Given the description of an element on the screen output the (x, y) to click on. 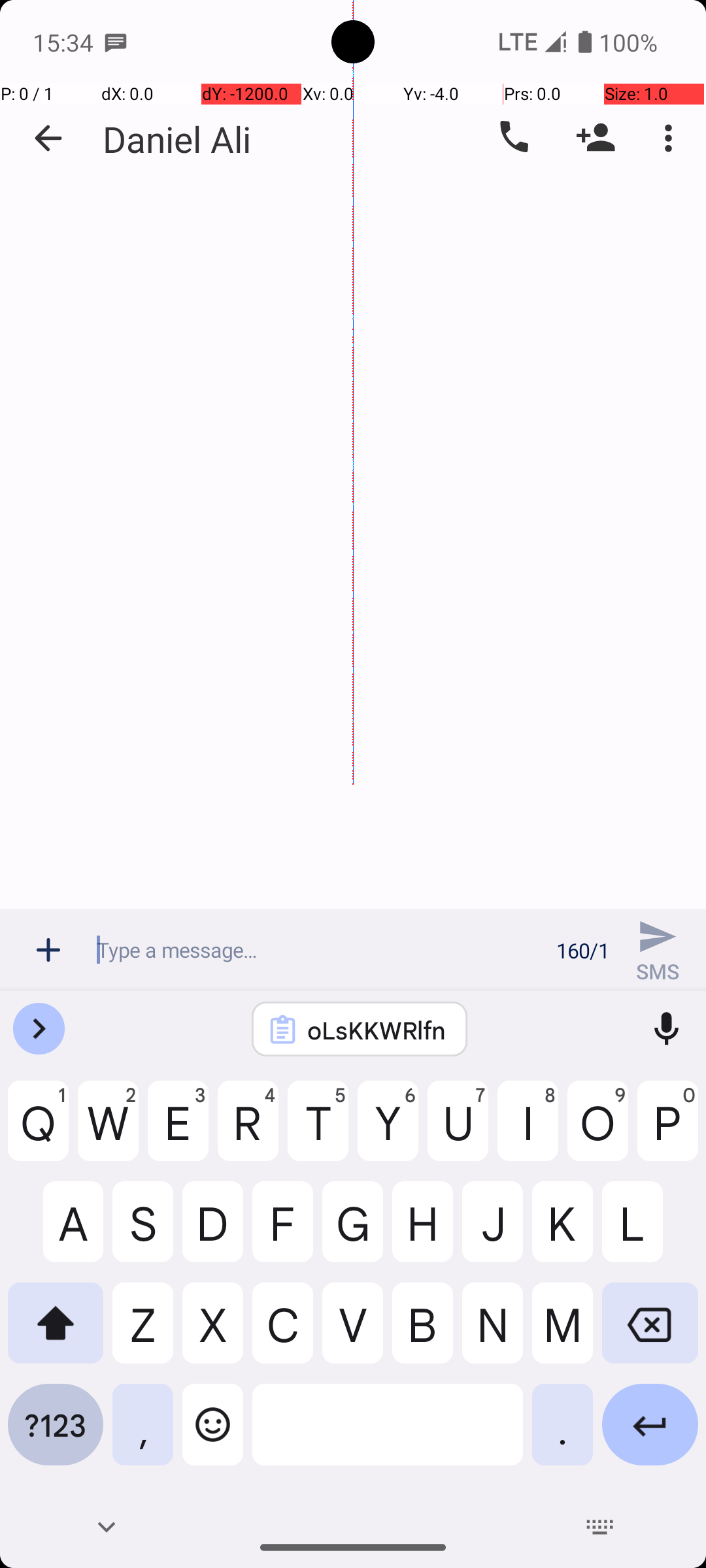
SMS Messenger notification: Isla da Silva Element type: android.widget.ImageView (115, 41)
